Given the description of an element on the screen output the (x, y) to click on. 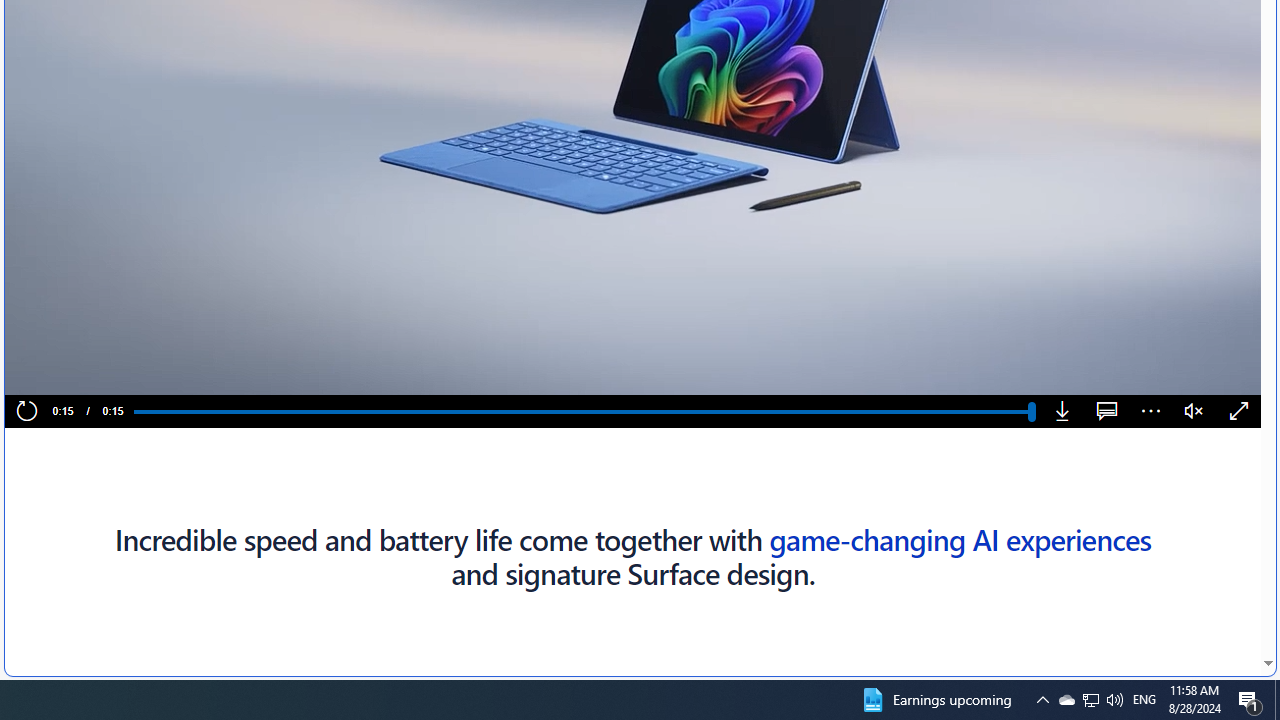
Replay (26, 412)
More options (1150, 412)
Pause (60, 372)
Progress Bar (582, 411)
Captions (1106, 412)
Unmute (1194, 412)
Download (1062, 412)
Fullscreen (1238, 412)
AutomationID: pause-svg (61, 372)
